Given the description of an element on the screen output the (x, y) to click on. 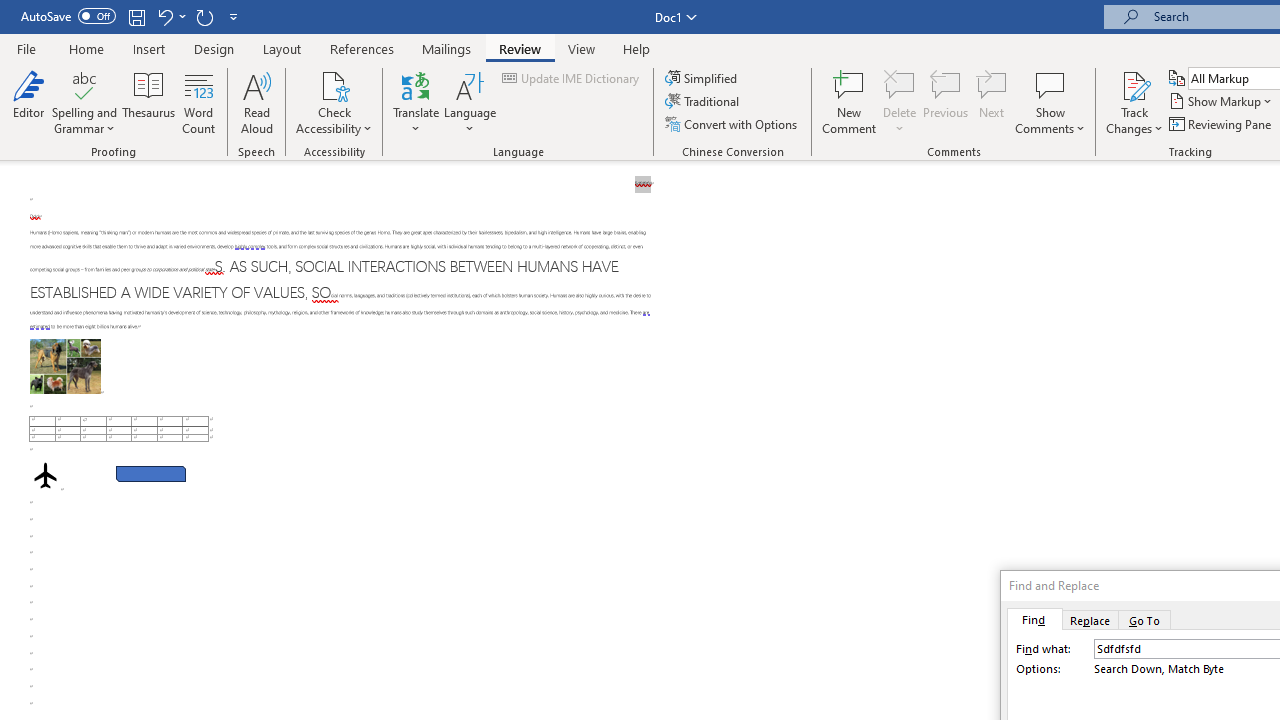
Show Markup (1222, 101)
Track Changes (1134, 84)
Delete (900, 102)
Spelling and Grammar (84, 102)
Update IME Dictionary... (572, 78)
Word Count (198, 102)
Previous (946, 102)
Traditional (703, 101)
Show Comments (1050, 84)
